Given the description of an element on the screen output the (x, y) to click on. 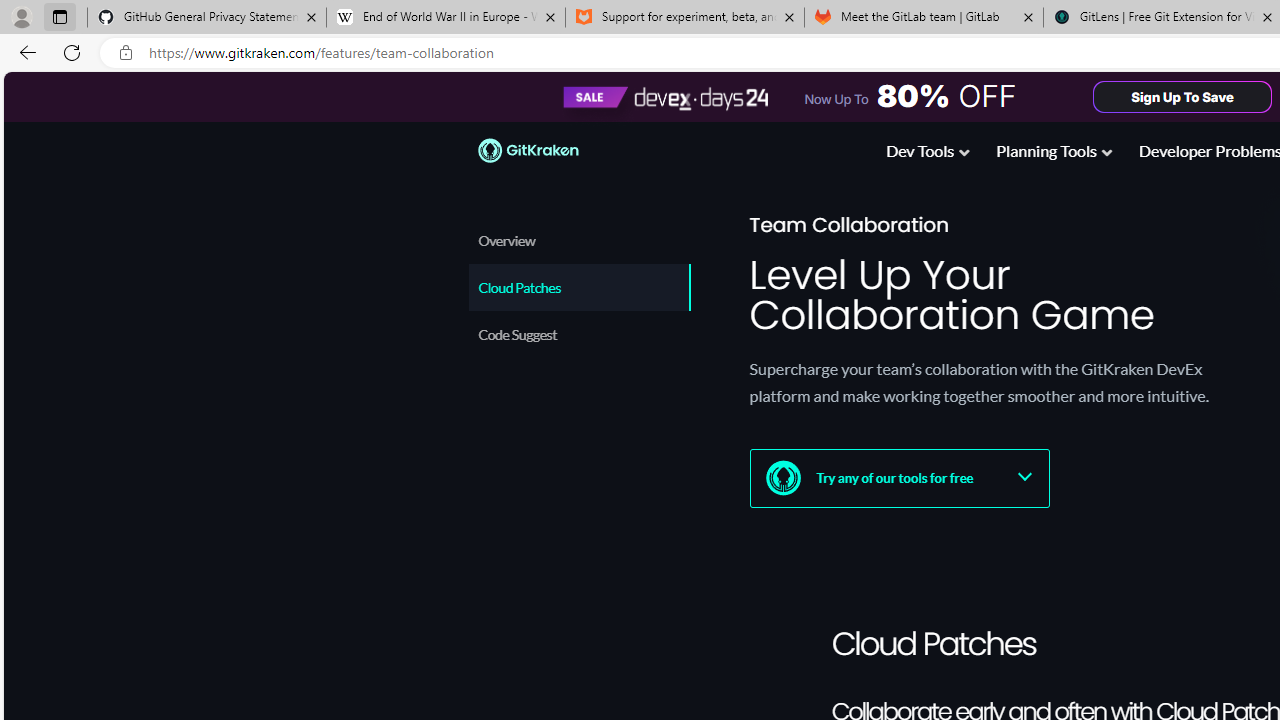
GitHub General Privacy Statement - GitHub Docs (207, 17)
Cloud Patches (579, 287)
Code Suggest (577, 334)
